Given the description of an element on the screen output the (x, y) to click on. 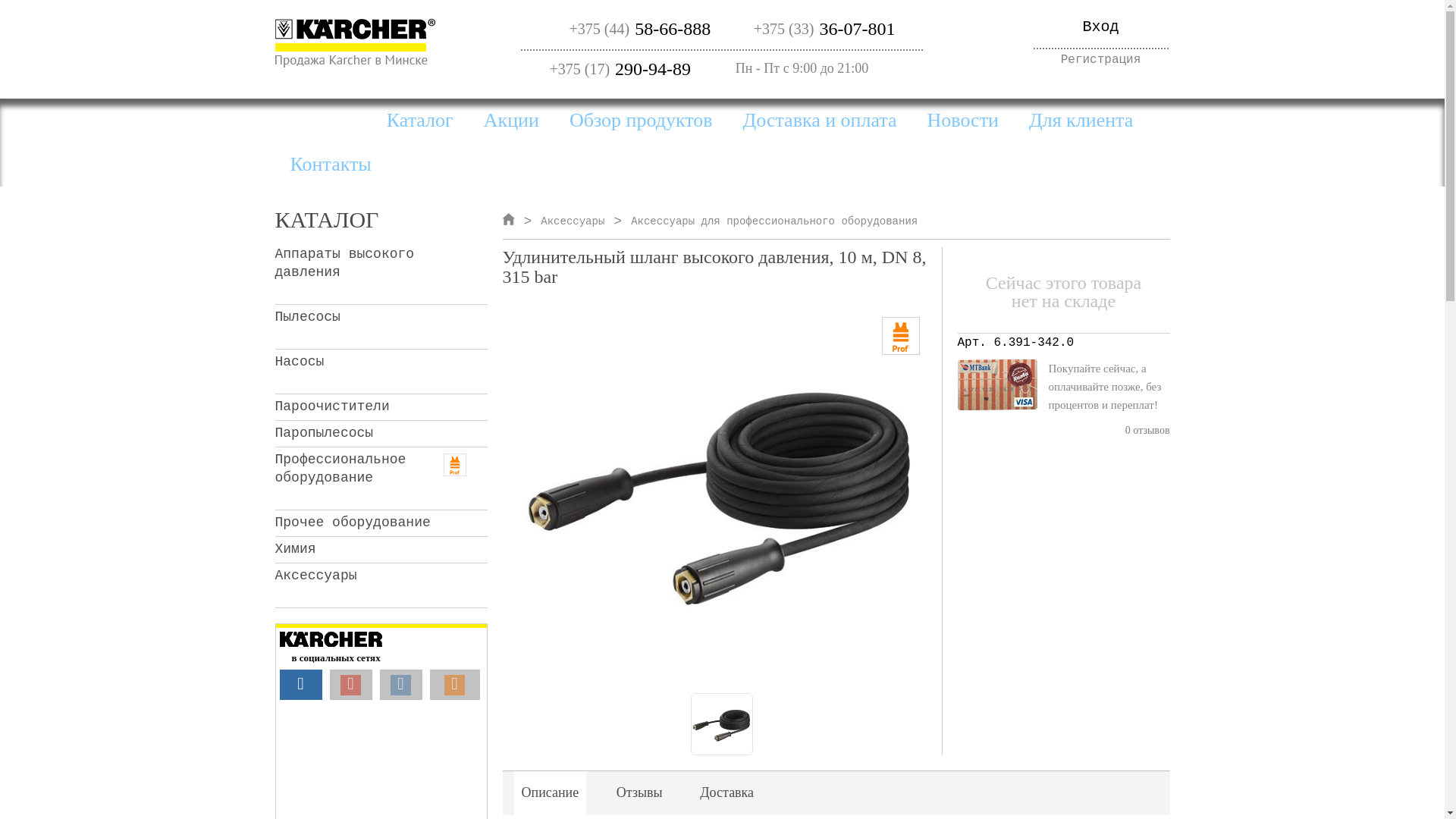
logo.png Element type: hover (354, 42)
